Given the description of an element on the screen output the (x, y) to click on. 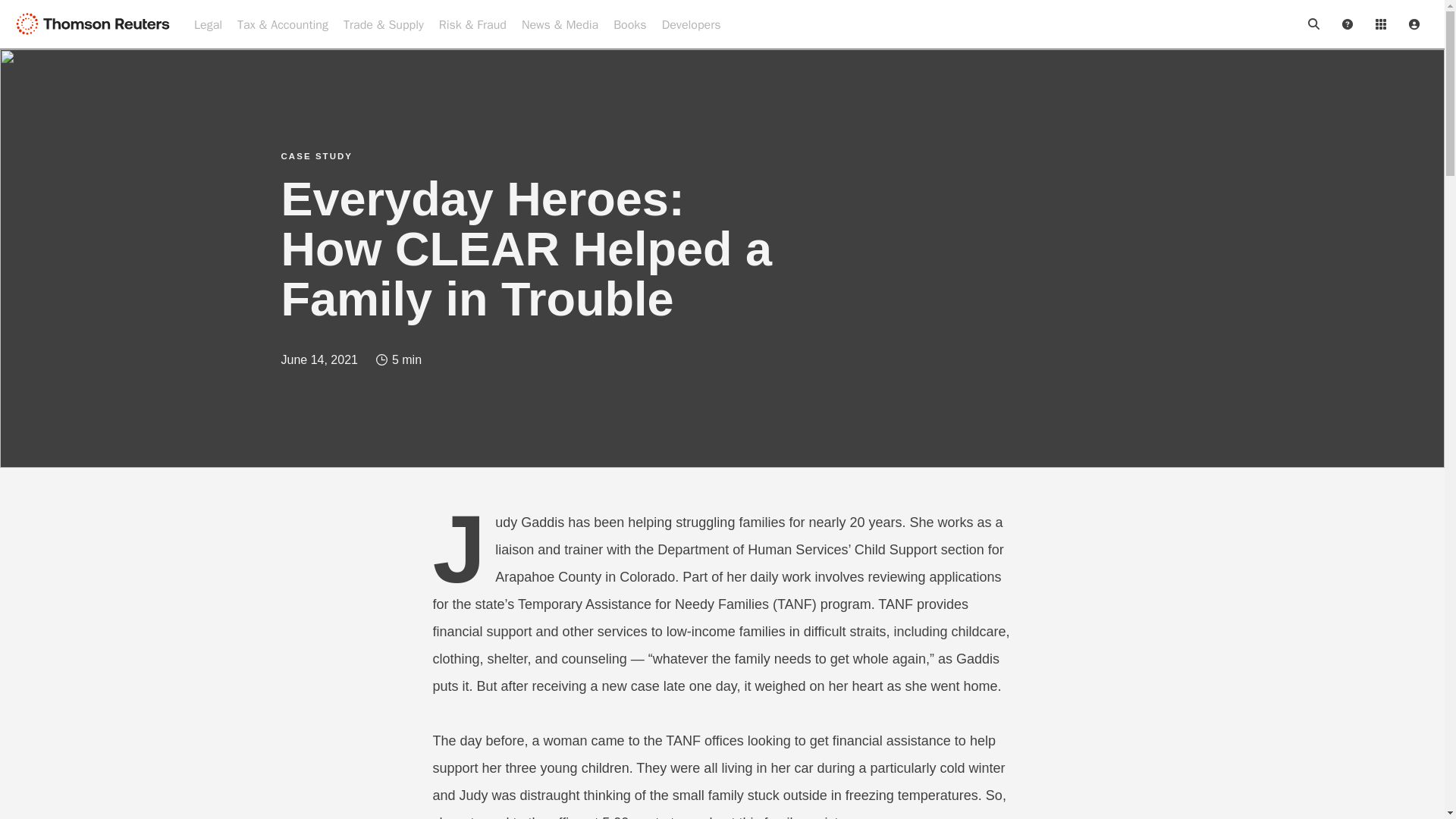
Developers (691, 24)
Books (629, 24)
Legal (208, 24)
